Given the description of an element on the screen output the (x, y) to click on. 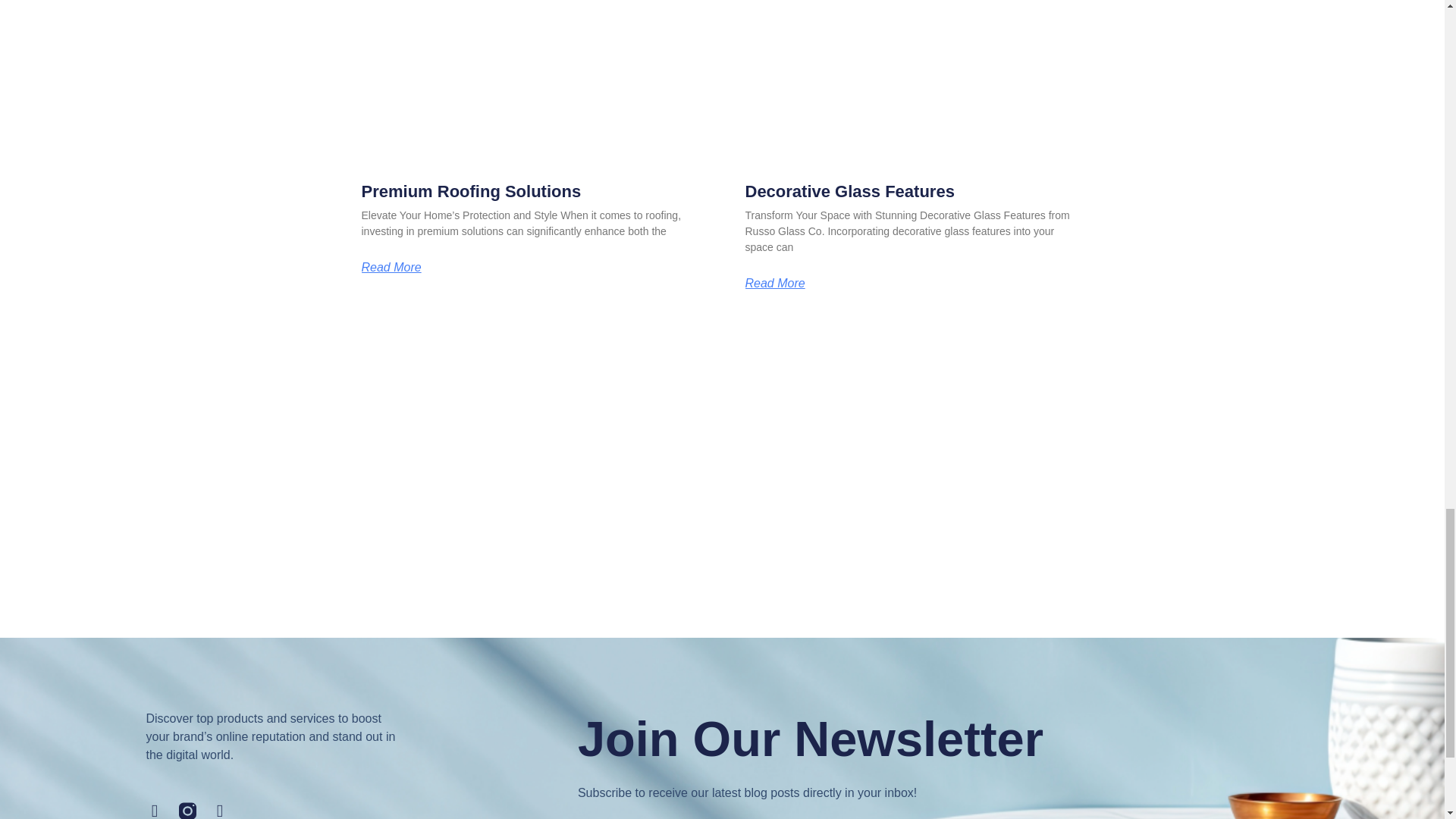
Read More (774, 283)
Premium Roofing Solutions (470, 190)
Read More (390, 267)
Decorative Glass Features (848, 190)
